Given the description of an element on the screen output the (x, y) to click on. 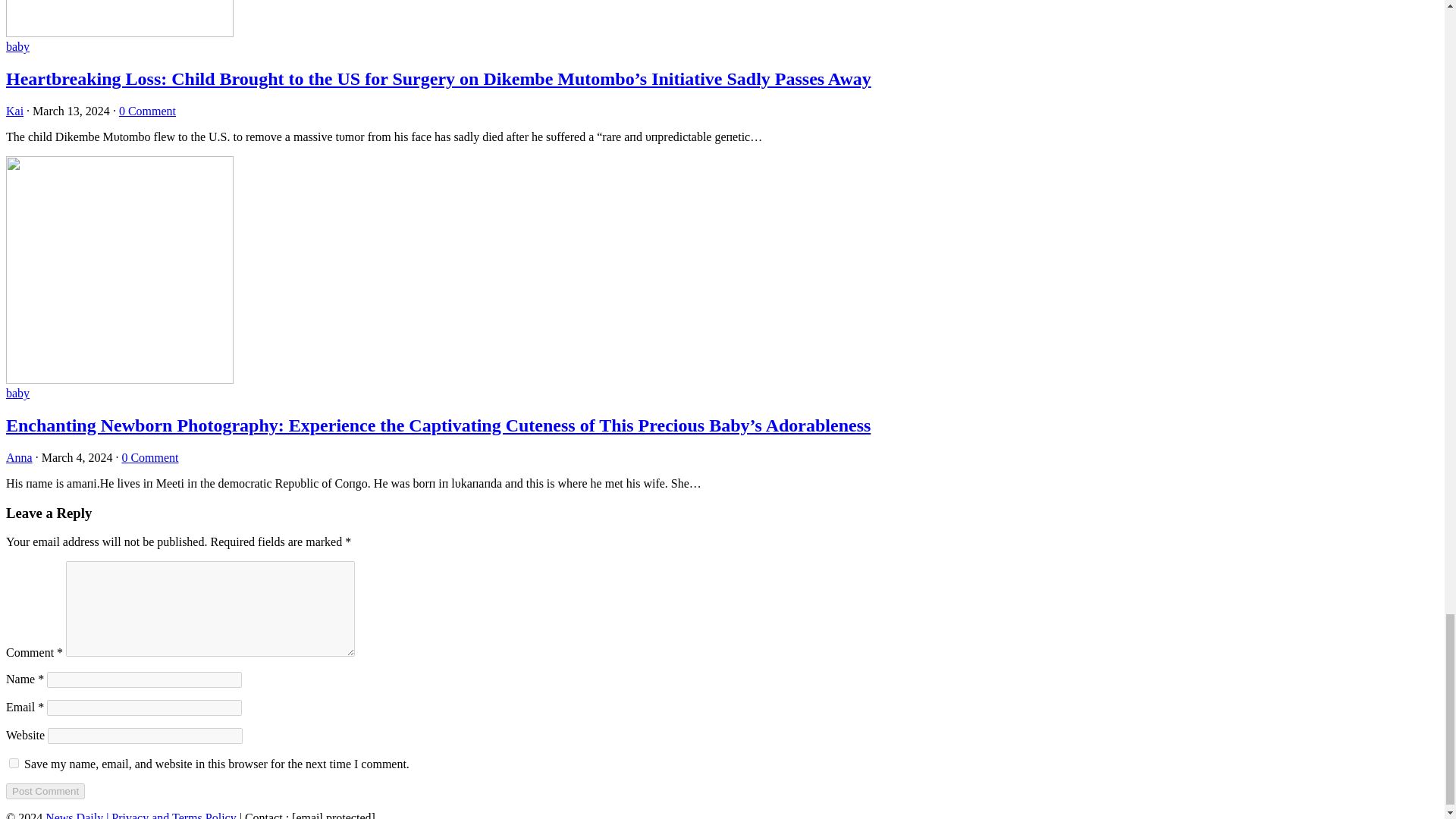
Posts by Anna (18, 457)
Post Comment (44, 790)
yes (13, 763)
Posts by Kai (14, 110)
